Given the description of an element on the screen output the (x, y) to click on. 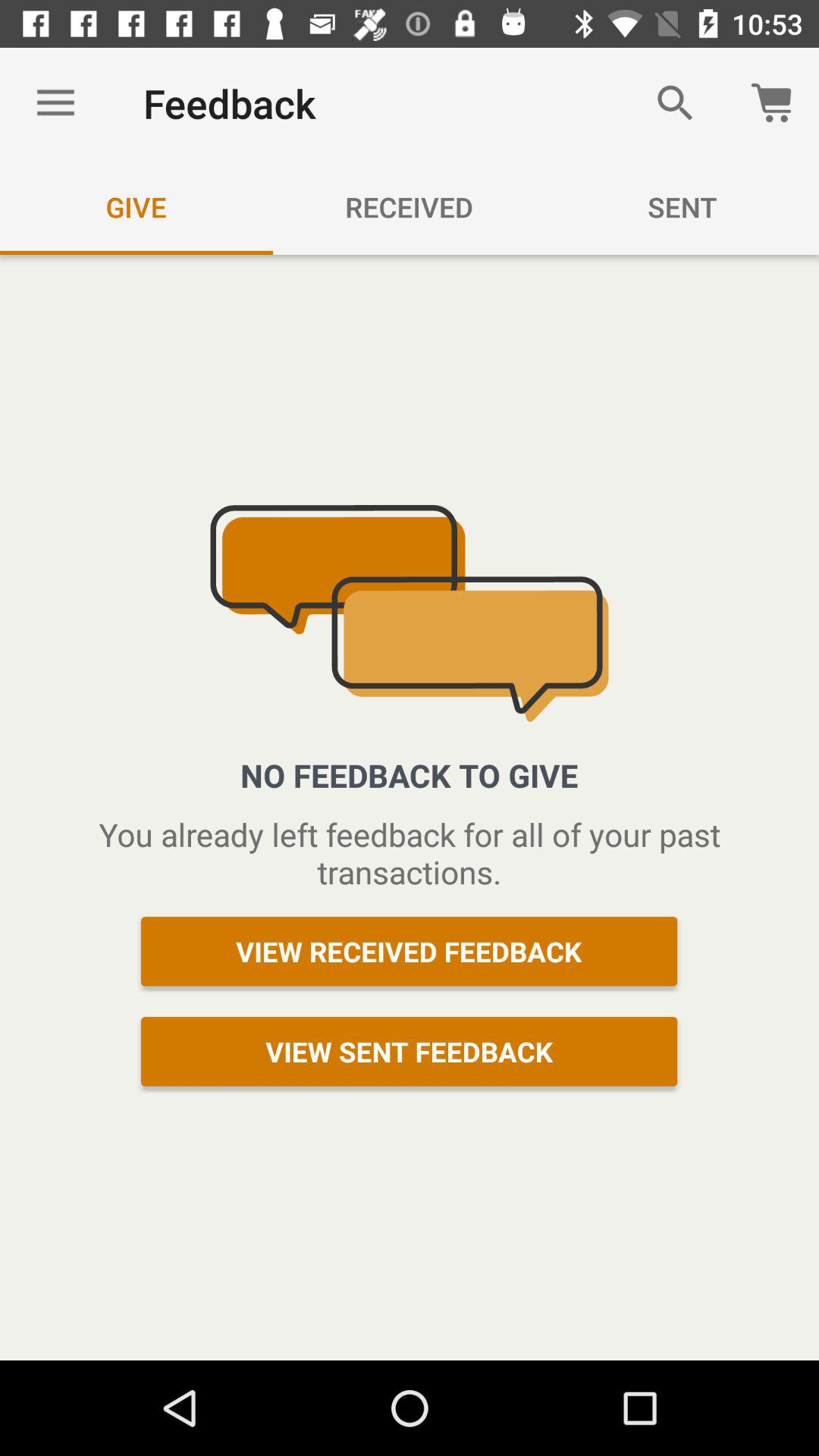
open item above sent icon (675, 103)
